Given the description of an element on the screen output the (x, y) to click on. 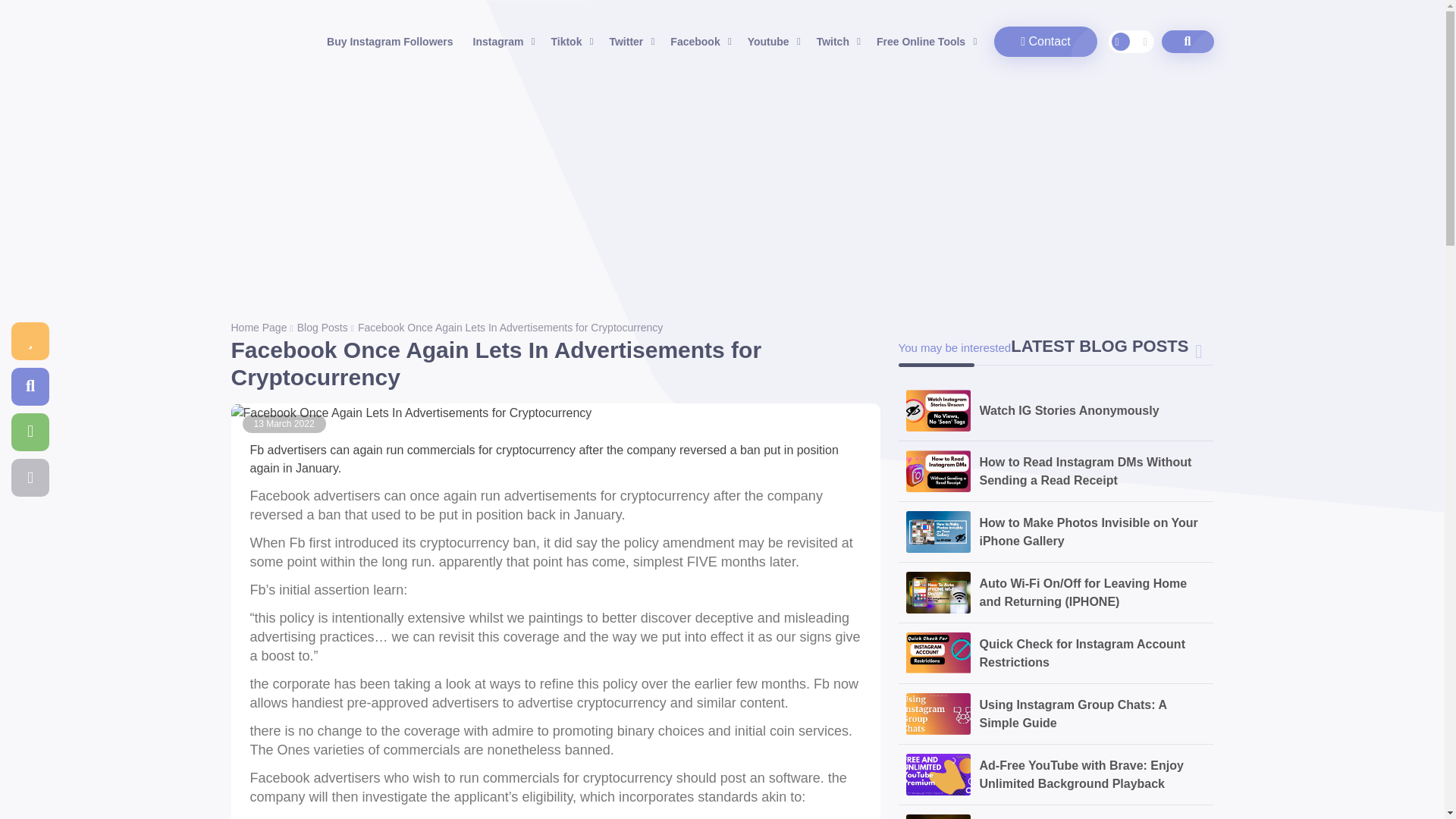
Twitter (629, 41)
Instagram (502, 41)
Buy Instagram Followers (389, 41)
Tiktok (569, 41)
Facebook (698, 41)
MyInstaFollow (248, 41)
